Given the description of an element on the screen output the (x, y) to click on. 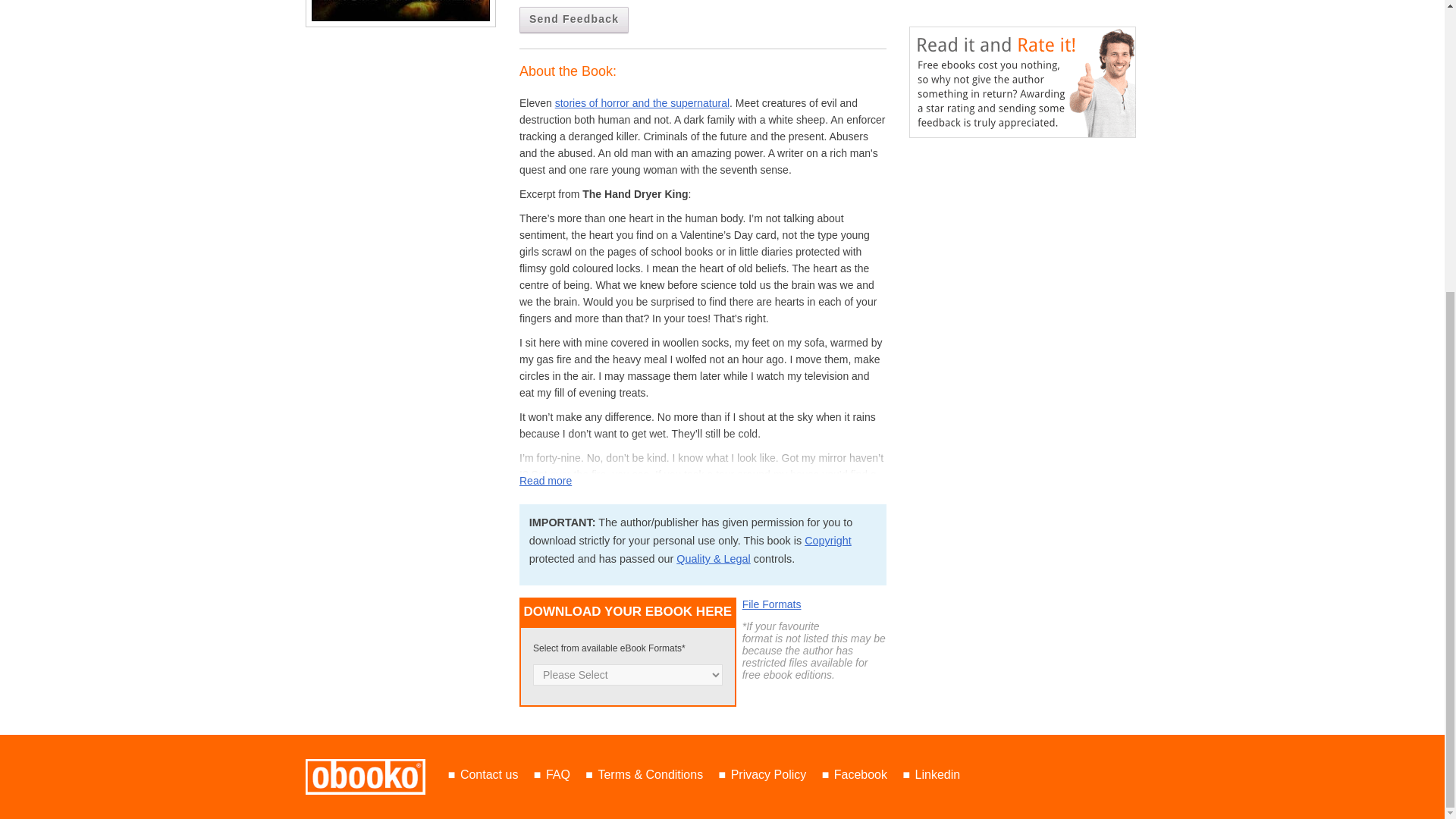
The Seventh Sense (400, 10)
Privacy Policy (768, 774)
Linkedin (937, 774)
Online Privacy and the use of Cookies (768, 774)
FAQ (558, 774)
Protected by Copyright (828, 540)
Obooko Linkedin (937, 774)
Obooko Logo (364, 776)
Checked for Quality (714, 558)
Contact us (489, 774)
Get in touch with obooko (489, 774)
Copyright (828, 540)
stories of horror and the supernatural (641, 102)
Terms and Conditions (649, 774)
Common Questions and Answers (558, 774)
